Given the description of an element on the screen output the (x, y) to click on. 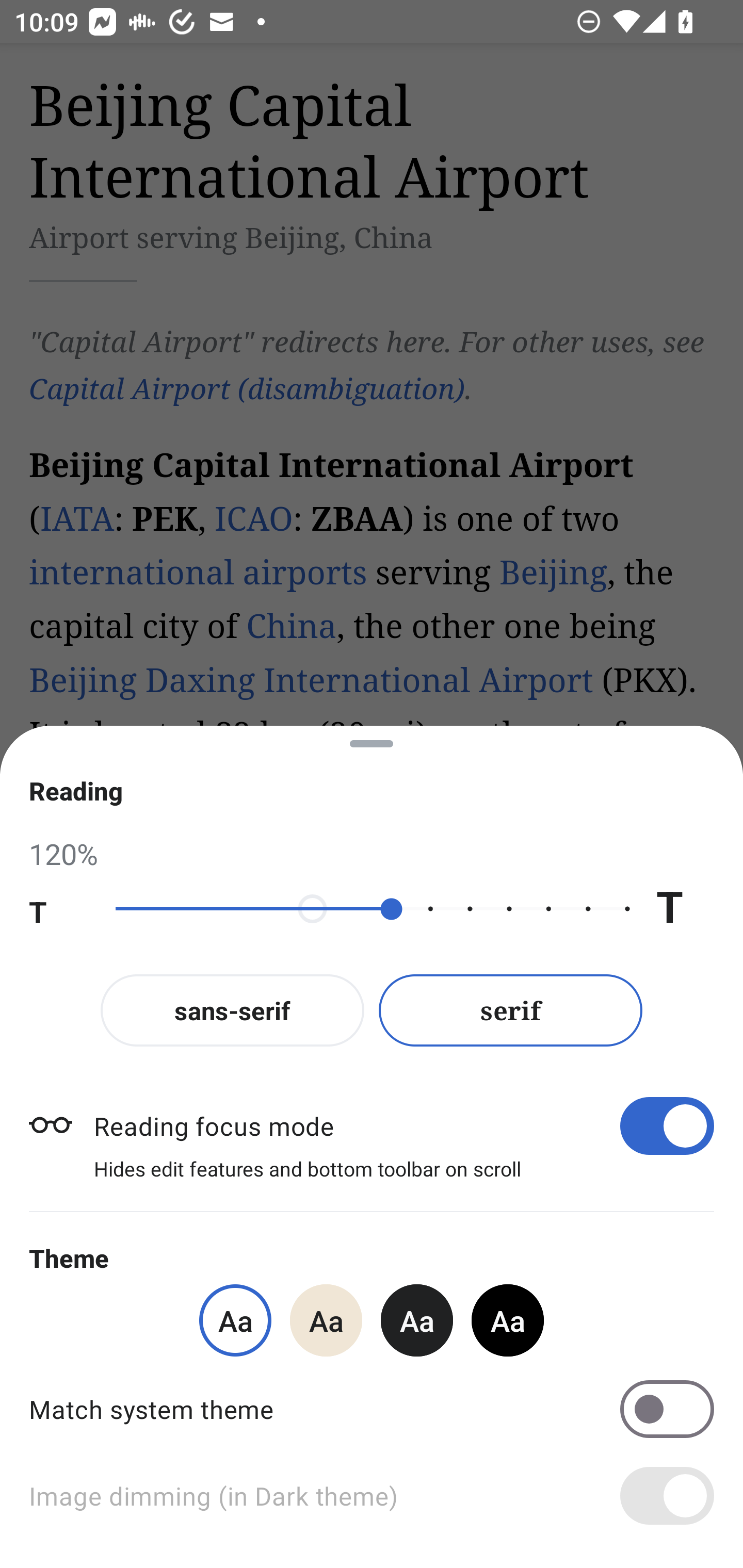
T Decrease text size (57, 909)
T Increase text size (685, 909)
sans-serif (232, 1010)
serif (510, 1010)
Reading focus mode (403, 1125)
Aa (325, 1320)
Aa (416, 1320)
Aa (507, 1320)
Match system theme (371, 1408)
Image dimming (in Dark theme) (371, 1495)
